Given the description of an element on the screen output the (x, y) to click on. 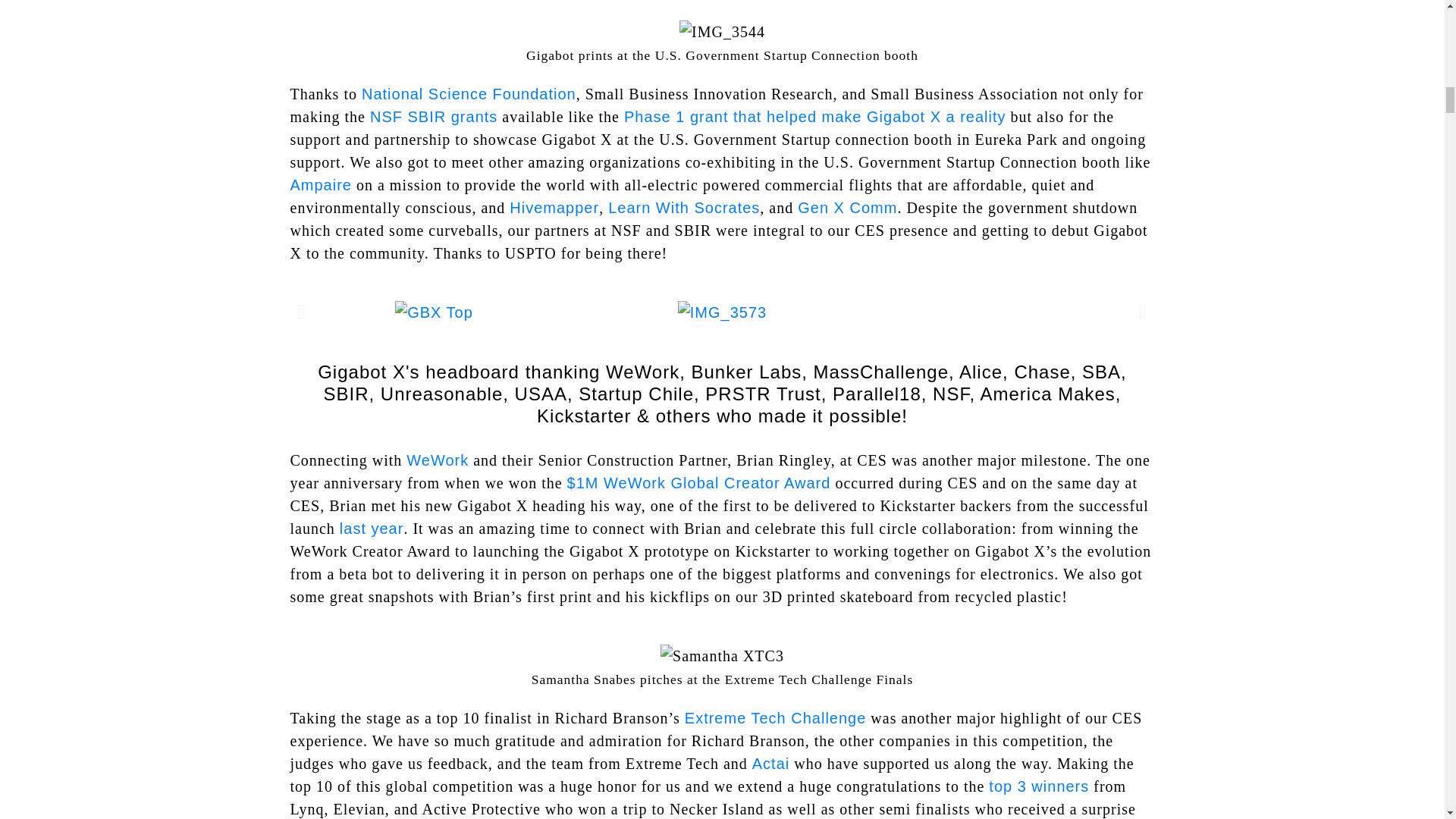
Samantha XTC3 (722, 655)
